Given the description of an element on the screen output the (x, y) to click on. 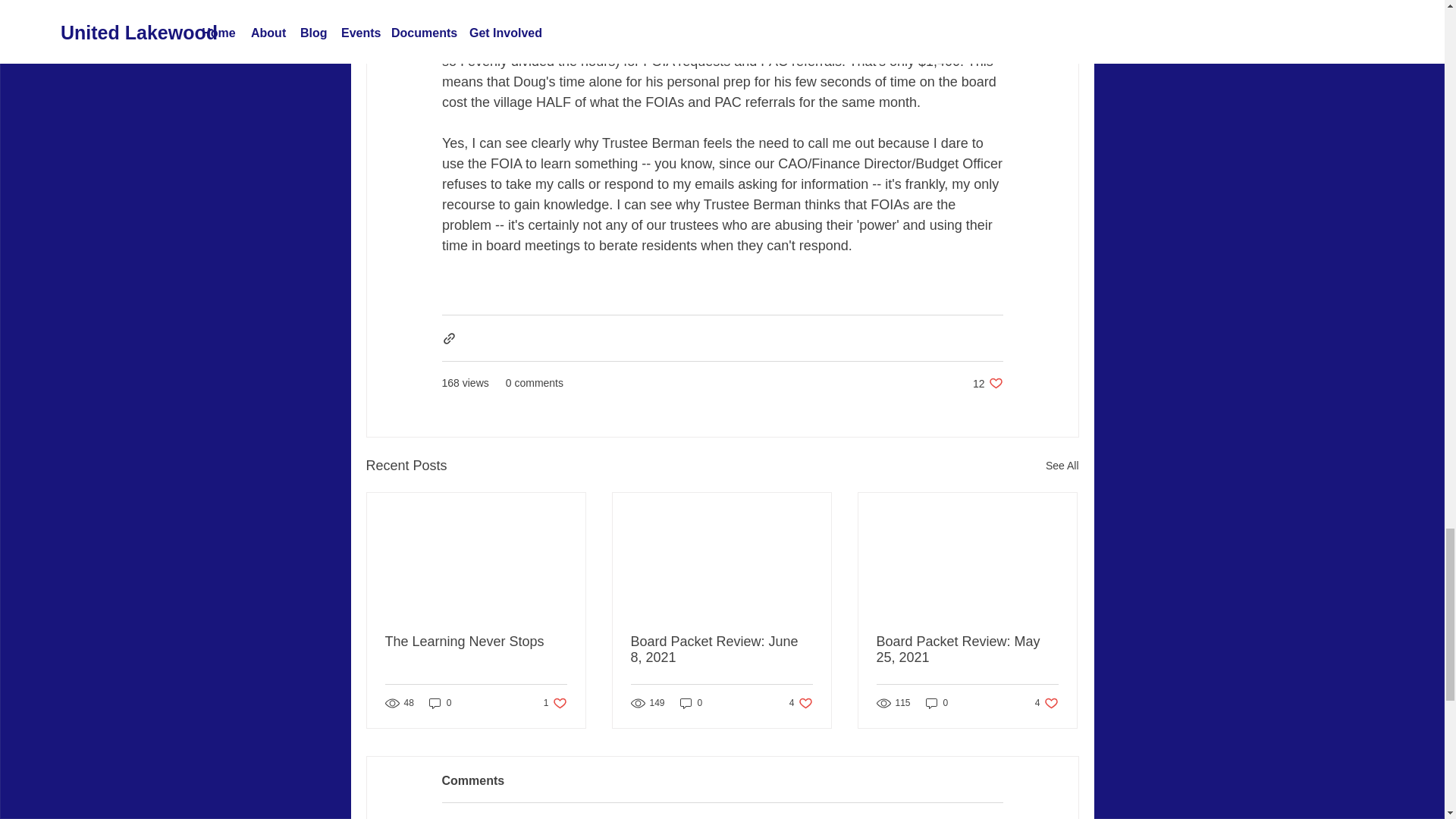
The Learning Never Stops (800, 703)
Board Packet Review: June 8, 2021 (476, 641)
0 (555, 703)
See All (721, 649)
0 (937, 703)
Board Packet Review: May 25, 2021 (1061, 465)
0 (440, 703)
